Given the description of an element on the screen output the (x, y) to click on. 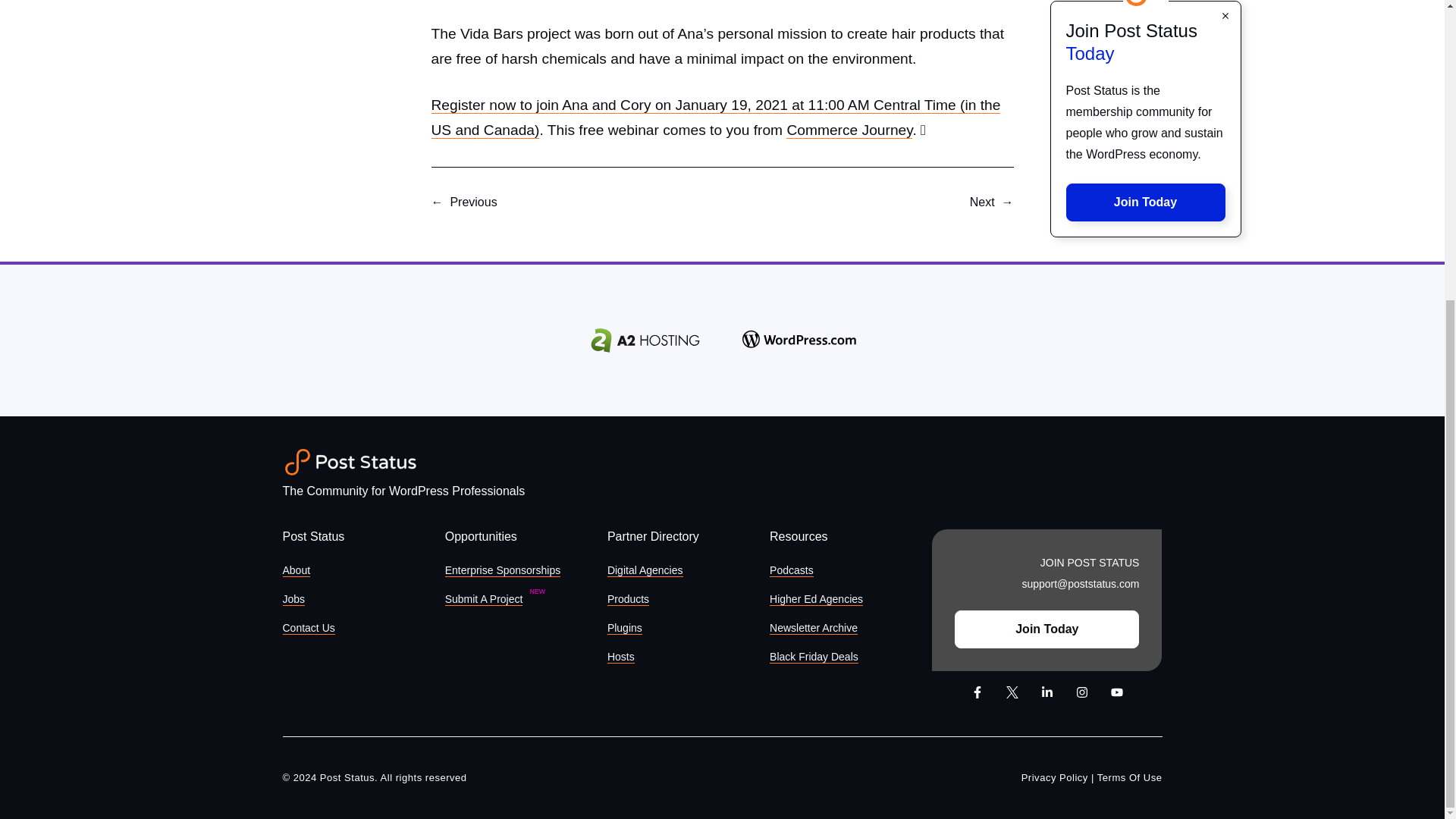
Post Status (350, 462)
Black Friday Deals (814, 656)
Previous (472, 201)
Enterprise Sponsorships (502, 570)
Newsletter Archive (813, 627)
Join Today (1145, 67)
Products (628, 599)
Next (981, 201)
WordPress.com (799, 340)
Submit A Project (483, 599)
